Given the description of an element on the screen output the (x, y) to click on. 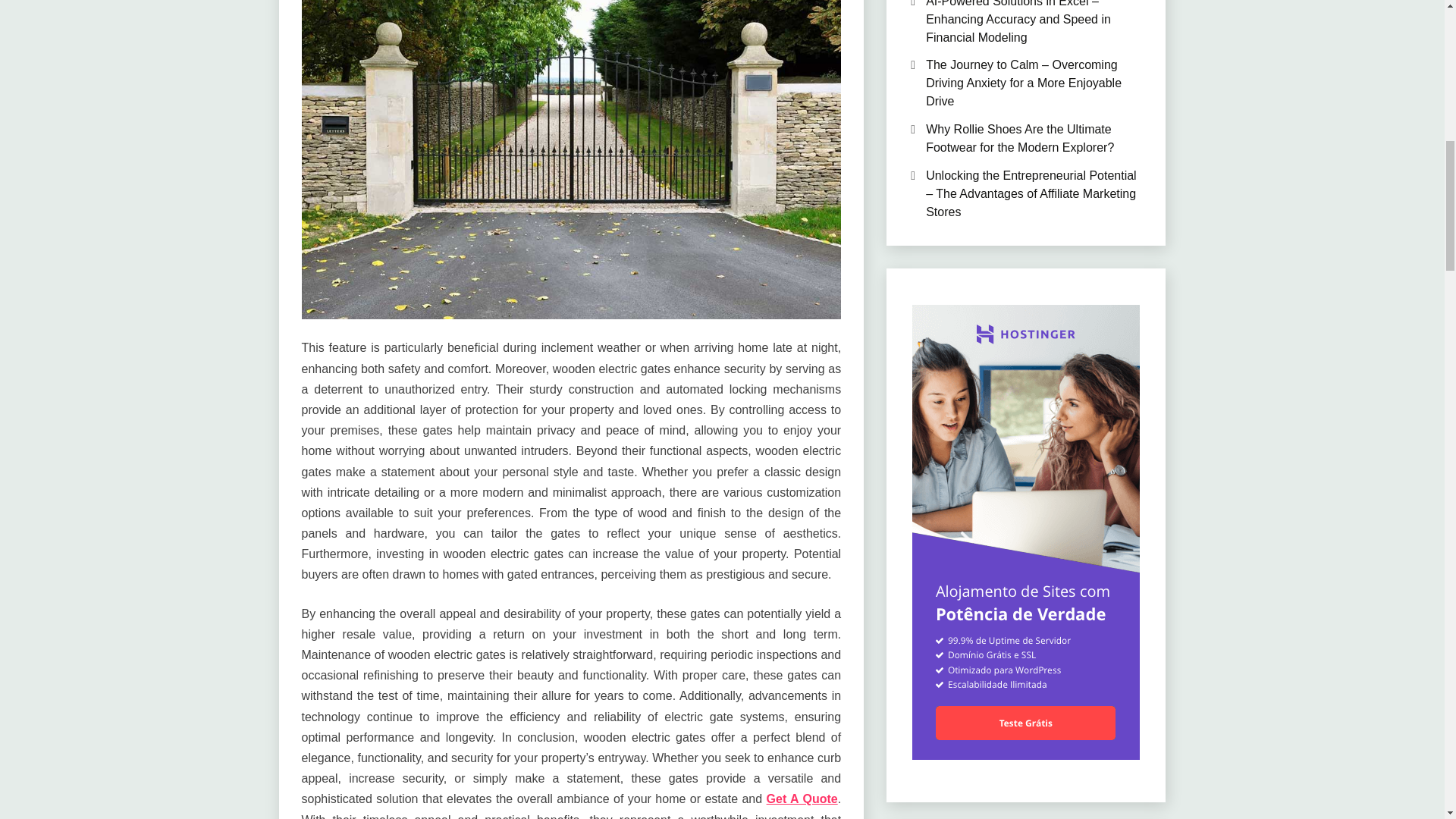
Get A Quote (802, 798)
